Given the description of an element on the screen output the (x, y) to click on. 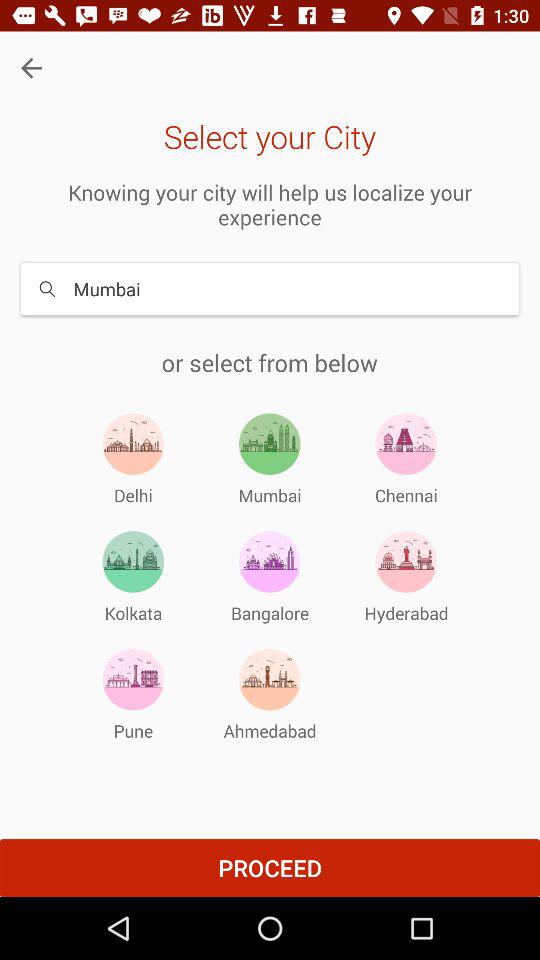
go back (31, 67)
